Given the description of an element on the screen output the (x, y) to click on. 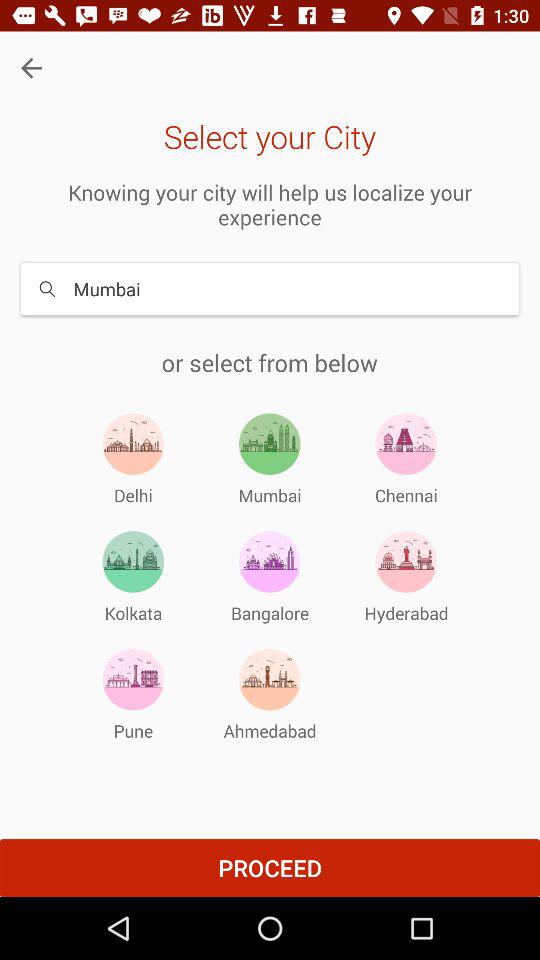
go back (31, 67)
